Given the description of an element on the screen output the (x, y) to click on. 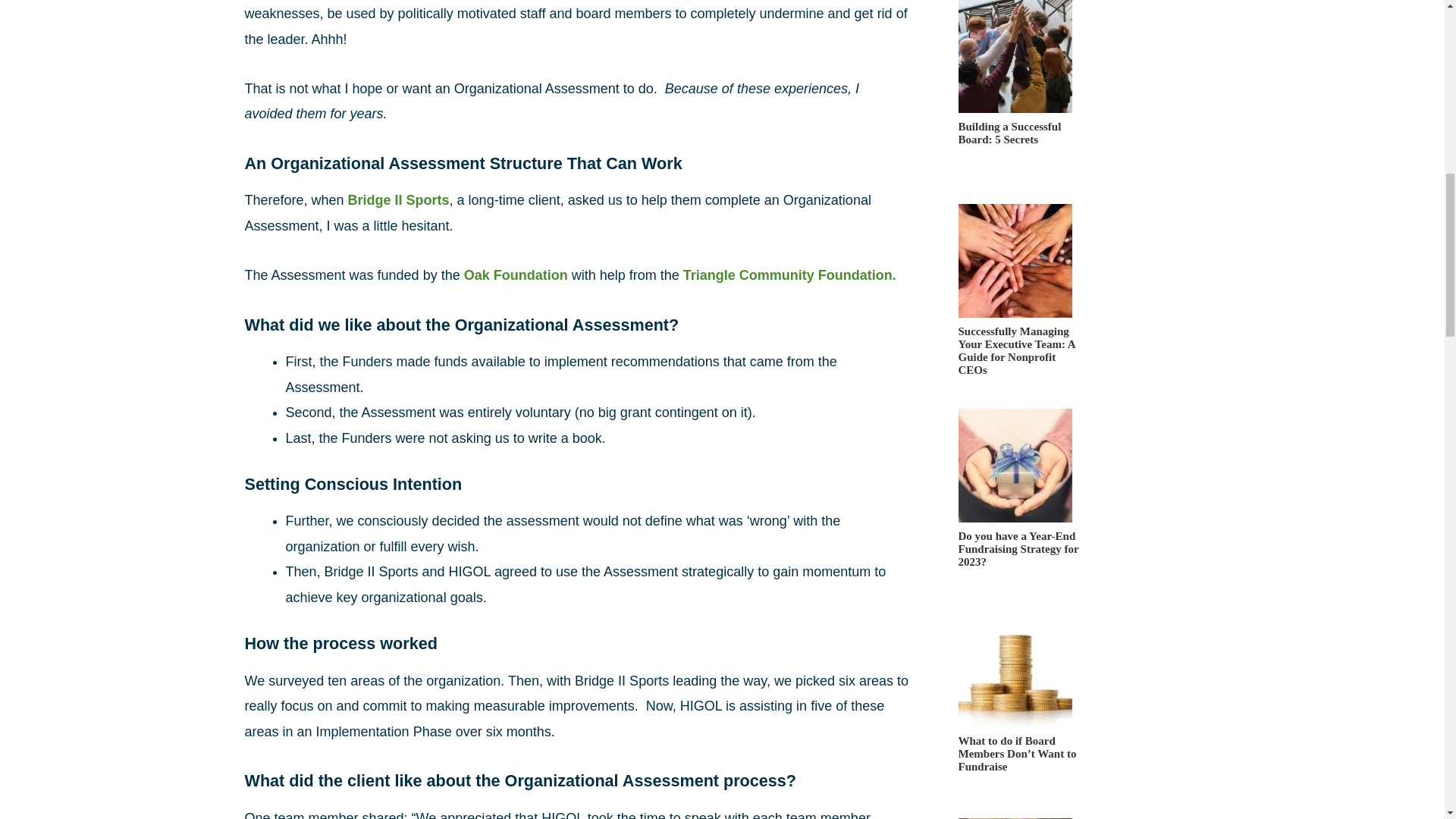
Building a Successful Board: 5 Secrets (1010, 154)
Triangle Community Foundation. (789, 274)
Do you have a Year-End Fundraising Strategy for 2023? (1021, 564)
Bridge II Sports (398, 200)
Oak Foundation (515, 274)
